Given the description of an element on the screen output the (x, y) to click on. 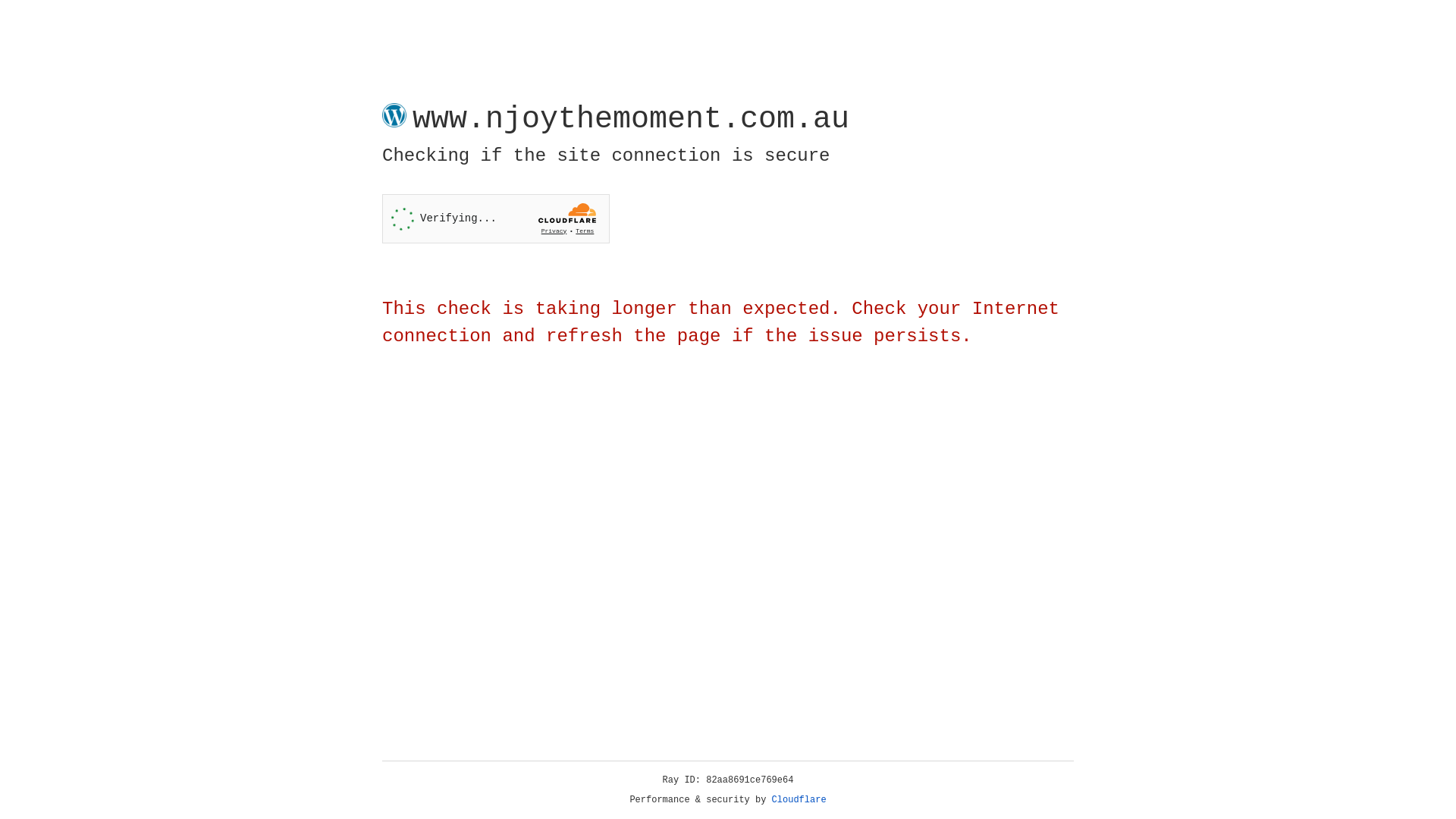
Widget containing a Cloudflare security challenge Element type: hover (495, 218)
Cloudflare Element type: text (798, 799)
